Given the description of an element on the screen output the (x, y) to click on. 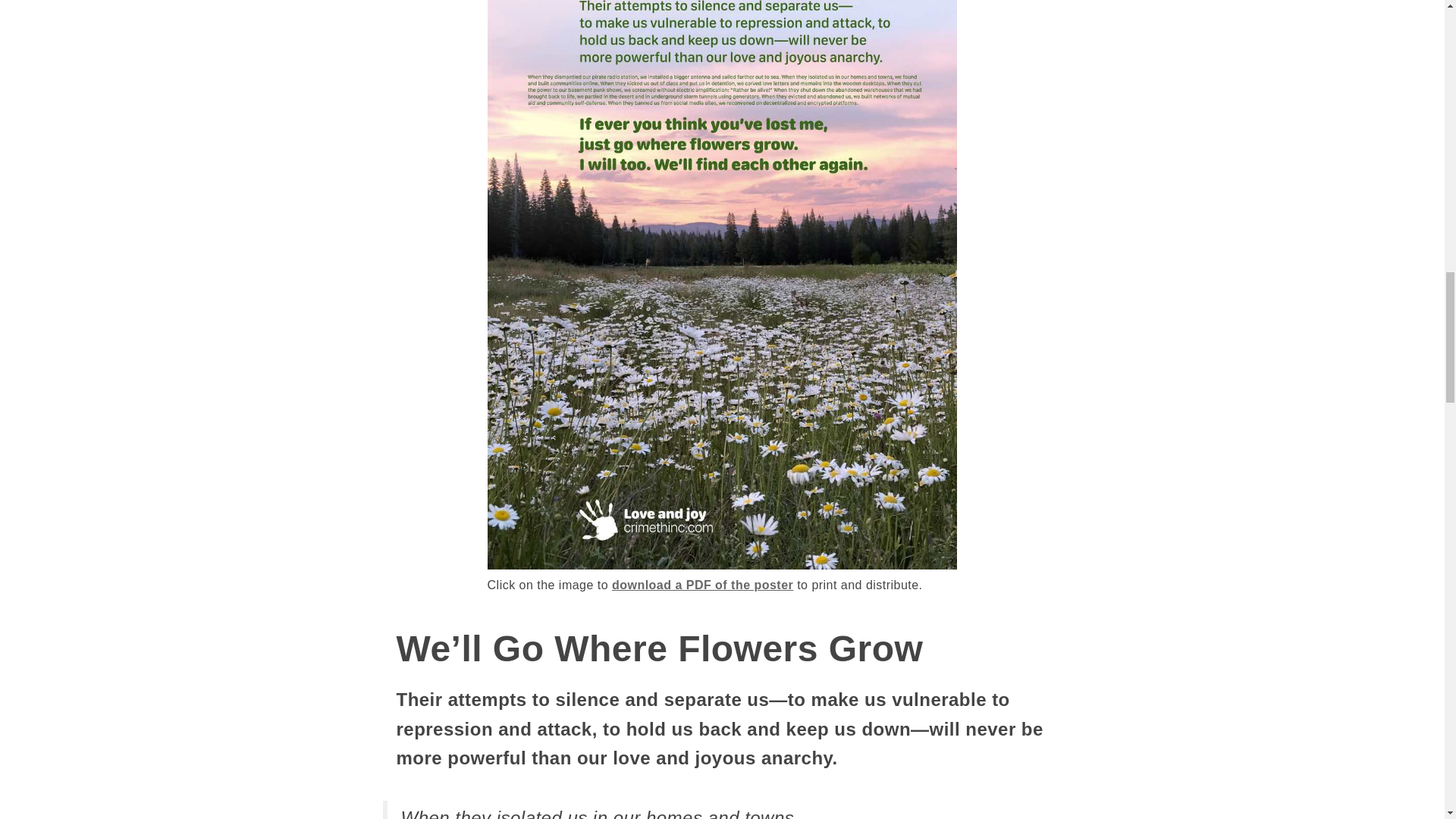
download a PDF of the poster (702, 584)
